Given the description of an element on the screen output the (x, y) to click on. 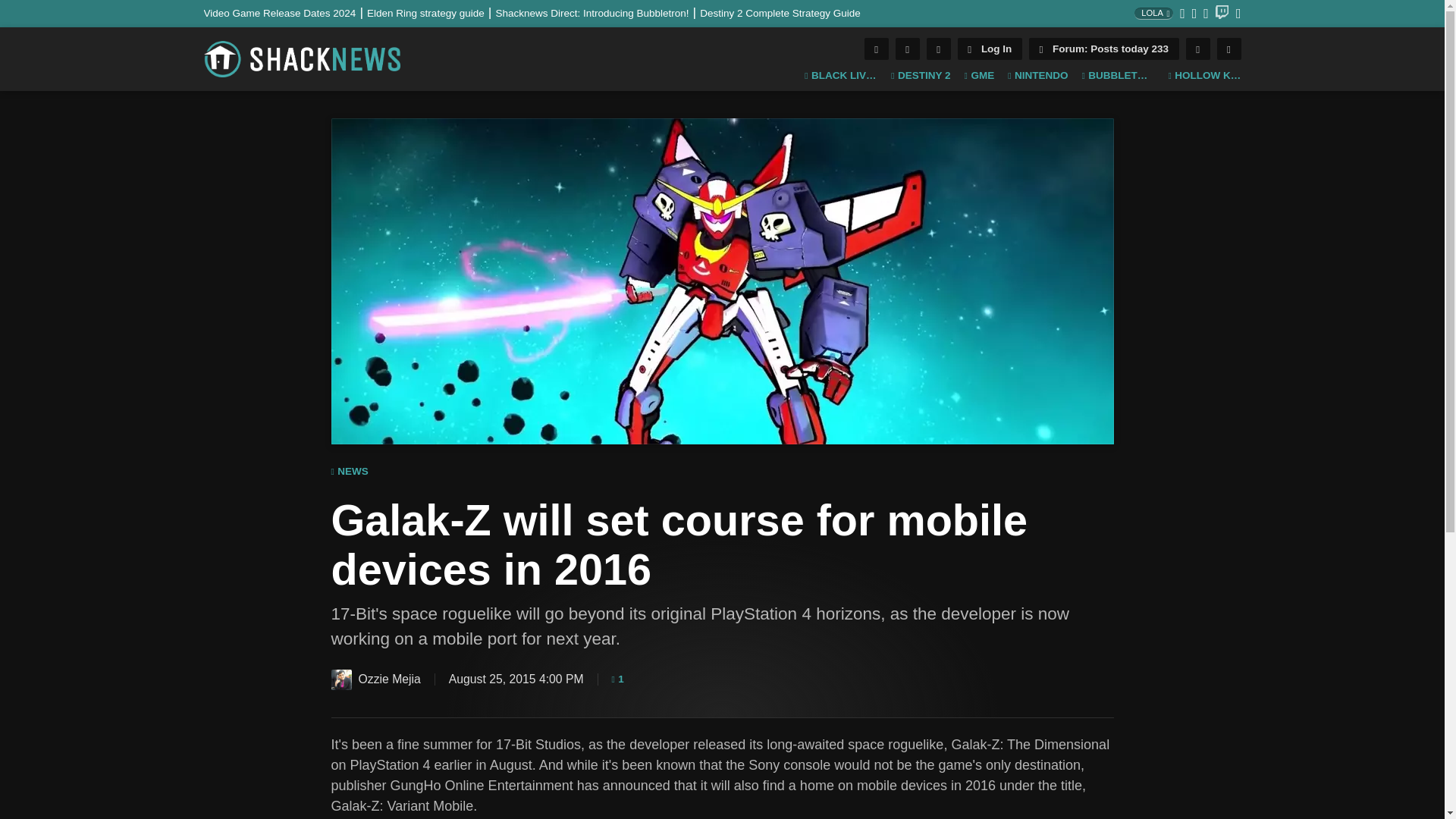
Ozzie Mejia (340, 679)
Elden Ring strategy guide (430, 11)
DESTINY 2 (920, 75)
BLACK LIVES MATTER (841, 75)
Shacknews Direct: Introducing Bubbletron! (597, 11)
HOLLOW KNIGHT: SILKSONG (1203, 75)
GME (978, 75)
BUBBLETRON (1117, 75)
NINTENDO (1037, 75)
